Given the description of an element on the screen output the (x, y) to click on. 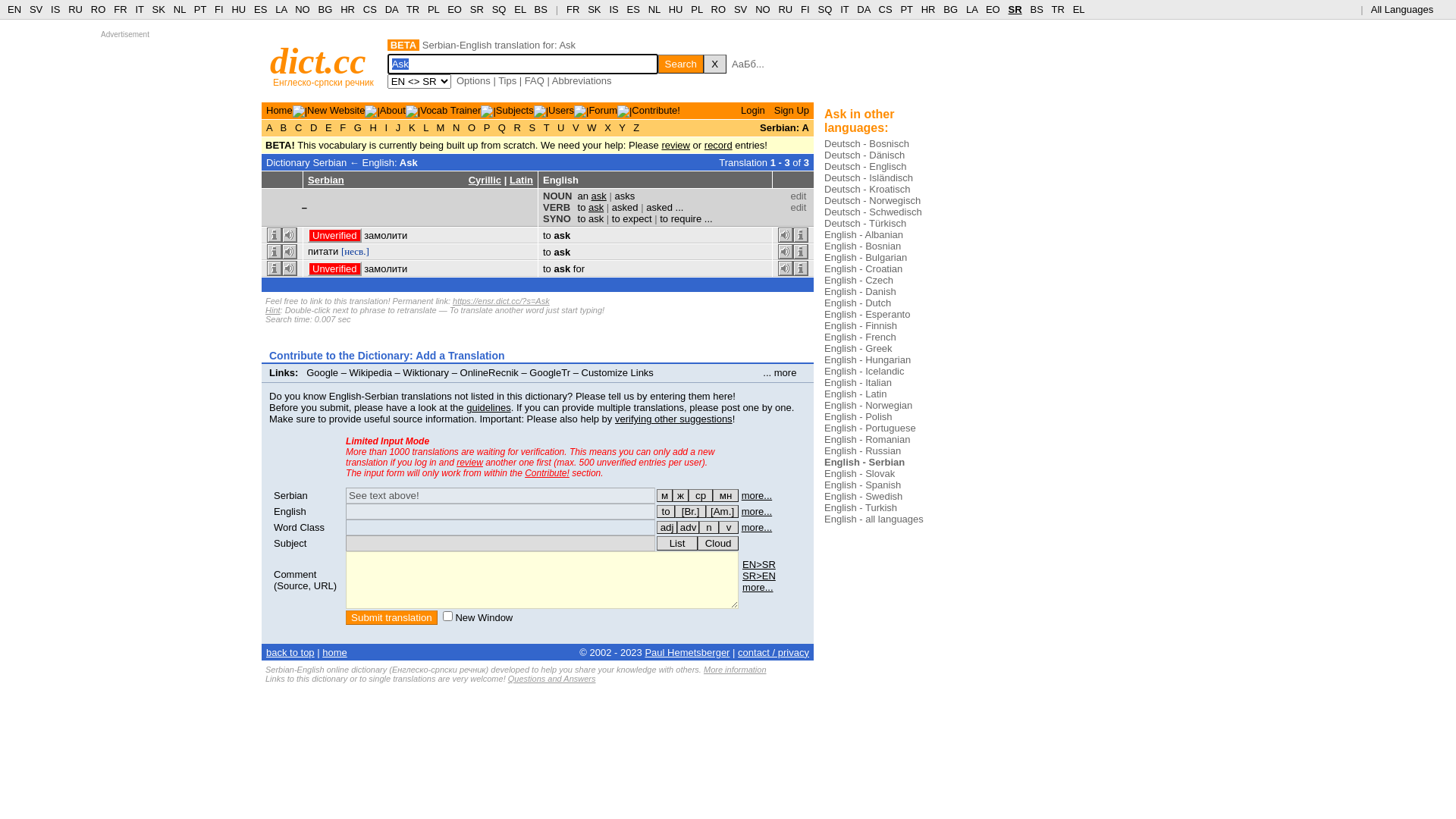
X Element type: text (714, 63)
IS Element type: text (54, 9)
Wiktionary Element type: text (425, 372)
New Website Element type: text (335, 110)
edit Element type: text (798, 207)
Deutsch - Bosnisch Element type: text (866, 143)
ask Element type: text (561, 251)
FR Element type: text (572, 9)
adv Element type: text (688, 526)
[Br.] Element type: text (690, 511)
IT Element type: text (138, 9)
English - Polish Element type: text (858, 416)
B Element type: text (283, 127)
English - Danish Element type: text (860, 291)
PL Element type: text (696, 9)
for Element type: text (578, 267)
Login Element type: text (752, 110)
EO Element type: text (992, 9)
CS Element type: text (369, 9)
J Element type: text (397, 127)
SQ Element type: text (499, 9)
Questions and Answers Element type: text (552, 678)
English - Serbian Element type: text (864, 461)
FI Element type: text (804, 9)
NL Element type: text (179, 9)
O Element type: text (470, 127)
P Element type: text (486, 127)
FAQ Element type: text (534, 80)
English - Greek Element type: text (858, 348)
for verbs Element type: hover (665, 511)
HR Element type: text (347, 9)
H Element type: text (373, 127)
SR Element type: text (1015, 9)
EL Element type: text (519, 9)
English - Albanian Element type: text (863, 234)
English - Romanian Element type: text (867, 439)
EL Element type: text (1079, 9)
Vocab Trainer Element type: text (450, 110)
BG Element type: text (950, 9)
I Element type: text (386, 127)
English Element type: text (289, 511)
Hint Element type: text (272, 309)
M Element type: text (440, 127)
SK Element type: text (593, 9)
About Element type: text (392, 110)
English - Bosnian Element type: text (862, 245)
English - Bulgarian Element type: text (865, 257)
adj Element type: text (666, 526)
EN>SR Element type: text (758, 564)
LA Element type: text (971, 9)
Submit translation Element type: text (391, 617)
D Element type: text (313, 127)
Ask Element type: text (408, 161)
BG Element type: text (325, 9)
CS Element type: text (884, 9)
SK Element type: text (158, 9)
Subjects Element type: text (514, 110)
Latin Element type: text (521, 179)
v Element type: text (728, 526)
SR>EN Element type: text (758, 575)
home Element type: text (334, 652)
English - Czech Element type: text (858, 279)
RU Element type: text (785, 9)
Sign Up Element type: text (791, 110)
Z Element type: text (636, 127)
(esp.) American English Element type: hover (722, 511)
NL Element type: text (654, 9)
Tips Element type: text (507, 80)
Contribute to the Dictionary: Add a Translation Element type: text (387, 355)
review Element type: text (469, 462)
Deutsch - Schwedisch Element type: text (873, 211)
SR Element type: text (476, 9)
English - Croatian Element type: text (863, 268)
English - Turkish Element type: text (860, 507)
NO Element type: text (302, 9)
English - Hungarian Element type: text (867, 359)
Paul Hemetsberger Element type: text (686, 652)
English - Italian Element type: text (857, 382)
review Element type: text (675, 144)
OnlineRecnik Element type: text (489, 372)
Deutsch - Englisch Element type: text (865, 166)
Serbian Element type: text (325, 179)
edit Element type: text (798, 195)
EN Element type: text (14, 9)
n Element type: text (708, 526)
record Element type: text (718, 144)
dict.cc Element type: text (317, 60)
GoogleTr Element type: text (549, 372)
Unverified Element type: text (334, 234)
...  Element type: text (712, 218)
more... Element type: text (757, 587)
Wikipedia Element type: text (370, 372)
Choose image ... Element type: text (884, 60)
English - Latin Element type: text (855, 393)
more... Element type: text (756, 527)
HR Element type: text (928, 9)
English - French Element type: text (860, 336)
Deutsch - Kroatisch Element type: text (867, 188)
T Element type: text (546, 127)
an ask Element type: text (591, 195)
EO Element type: text (454, 9)
IS Element type: text (613, 9)
Search Element type: text (680, 63)
... more Element type: text (784, 372)
Y Element type: text (621, 127)
E Element type: text (328, 127)
R Element type: text (517, 127)
Customize Links Element type: text (616, 372)
RU Element type: text (75, 9)
N Element type: text (455, 127)
asks Element type: text (624, 195)
...  Element type: text (684, 207)
Home Element type: text (279, 110)
ES Element type: text (260, 9)
to require Element type: text (680, 218)
SV Element type: text (35, 9)
English - Norwegian Element type: text (868, 405)
SV Element type: text (740, 9)
verifying other suggestions Element type: text (673, 418)
Unverified Element type: text (334, 267)
IT Element type: text (844, 9)
DA Element type: text (862, 9)
Options Element type: text (473, 80)
NO Element type: text (762, 9)
ask Element type: text (561, 267)
(esp.) British English Element type: hover (690, 511)
U Element type: text (560, 127)
FR Element type: text (119, 9)
Serbian Element type: text (290, 495)
English - Icelandic Element type: text (864, 370)
PL Element type: text (433, 9)
BS Element type: text (540, 9)
English - Finnish Element type: text (860, 325)
to expect Element type: text (631, 218)
more... Element type: text (756, 495)
A Element type: text (270, 127)
F Element type: text (342, 127)
RO Element type: text (98, 9)
TR Element type: text (412, 9)
More information Element type: text (734, 669)
ask Element type: text (561, 234)
to ask Element type: text (590, 218)
X Element type: text (608, 127)
English - Russian Element type: text (862, 450)
S Element type: text (532, 127)
Abbreviations Element type: text (581, 80)
Contribute! Element type: text (546, 472)
Contribute! Element type: text (655, 110)
Deutsch - Norwegisch Element type: text (872, 200)
contact / privacy Element type: text (773, 652)
K Element type: text (411, 127)
L Element type: text (425, 127)
asked Element type: text (659, 207)
Q Element type: text (501, 127)
https://ensr.dict.cc/?s=Ask Element type: text (500, 300)
V Element type: text (575, 127)
All Languages  Element type: text (1408, 9)
[Am.] Element type: text (722, 511)
BS Element type: text (1035, 9)
W Element type: text (591, 127)
LA Element type: text (280, 9)
SQ Element type: text (824, 9)
G Element type: text (357, 127)
English - Spanish Element type: text (862, 484)
C Element type: text (297, 127)
Users Element type: text (561, 110)
ES Element type: text (633, 9)
HU Element type: text (675, 9)
PT Element type: text (200, 9)
guidelines Element type: text (488, 407)
asked Element type: text (624, 207)
English - Dutch Element type: text (857, 302)
PT Element type: text (906, 9)
English - Portuguese Element type: text (870, 427)
English - Swedish Element type: text (863, 496)
TR Element type: text (1057, 9)
Forum Element type: text (602, 110)
Cyrillic Element type: text (484, 179)
HU Element type: text (238, 9)
DA Element type: text (391, 9)
RO Element type: text (718, 9)
to ask Element type: text (590, 207)
Cloud Element type: text (717, 543)
Google Element type: text (322, 372)
English - Esperanto Element type: text (867, 314)
Dictionary Element type: text (288, 161)
List Element type: text (676, 543)
English - Slovak Element type: text (859, 473)
back to top Element type: text (290, 652)
English - all languages Element type: text (873, 518)
FI Element type: text (218, 9)
more... Element type: text (756, 511)
to Element type: text (665, 511)
